Given the description of an element on the screen output the (x, y) to click on. 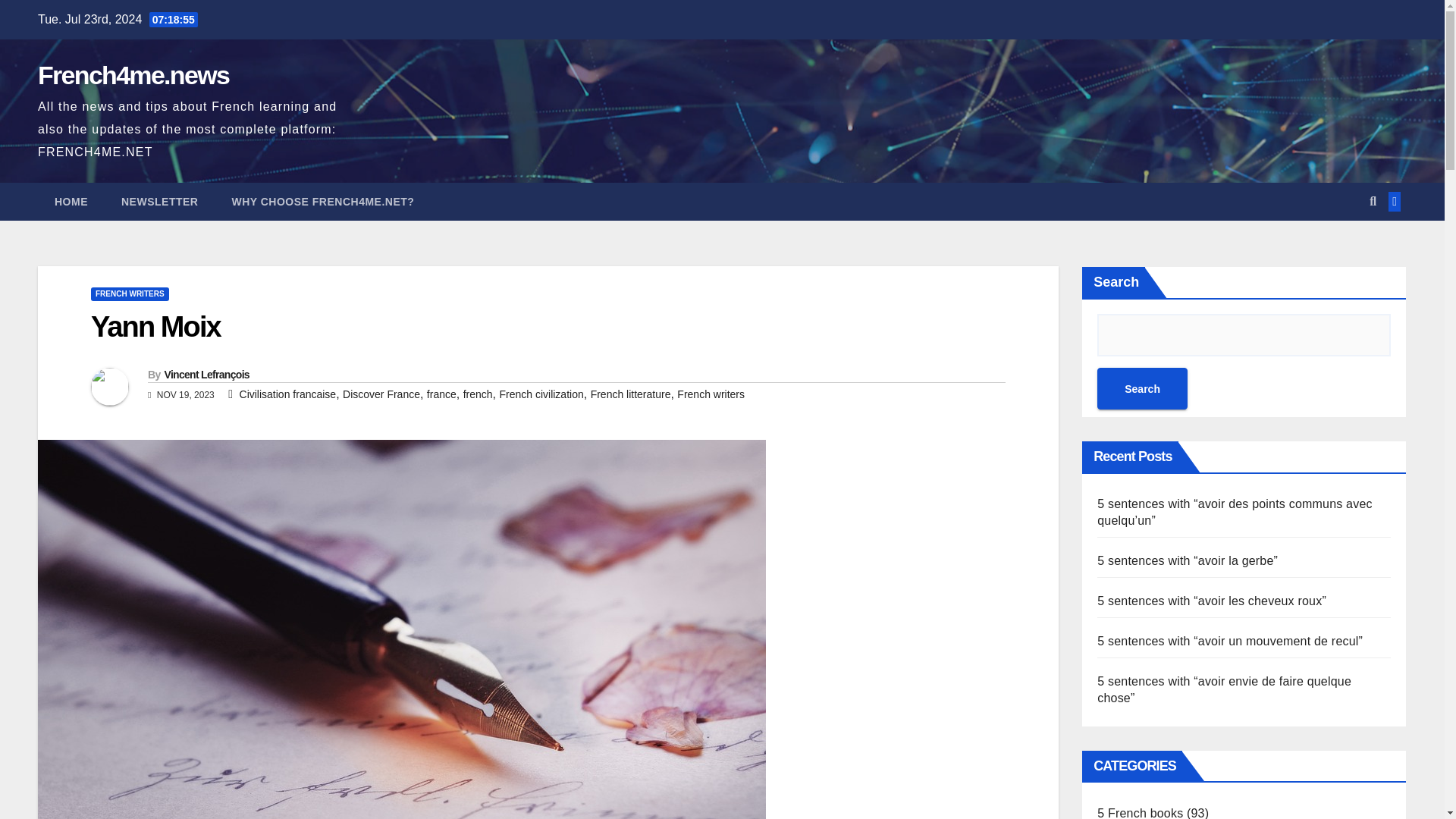
Civilisation francaise (288, 394)
French litterature (631, 394)
French writers (710, 394)
Yann Moix (155, 327)
WHY CHOOSE FRENCH4ME.NET? (322, 201)
Permalink to: Yann Moix (155, 327)
france (441, 394)
HOME (70, 201)
Home (70, 201)
French civilization (541, 394)
french (478, 394)
NEWSLETTER (159, 201)
FRENCH WRITERS (129, 294)
French4me.news (132, 74)
Discover France (381, 394)
